Given the description of an element on the screen output the (x, y) to click on. 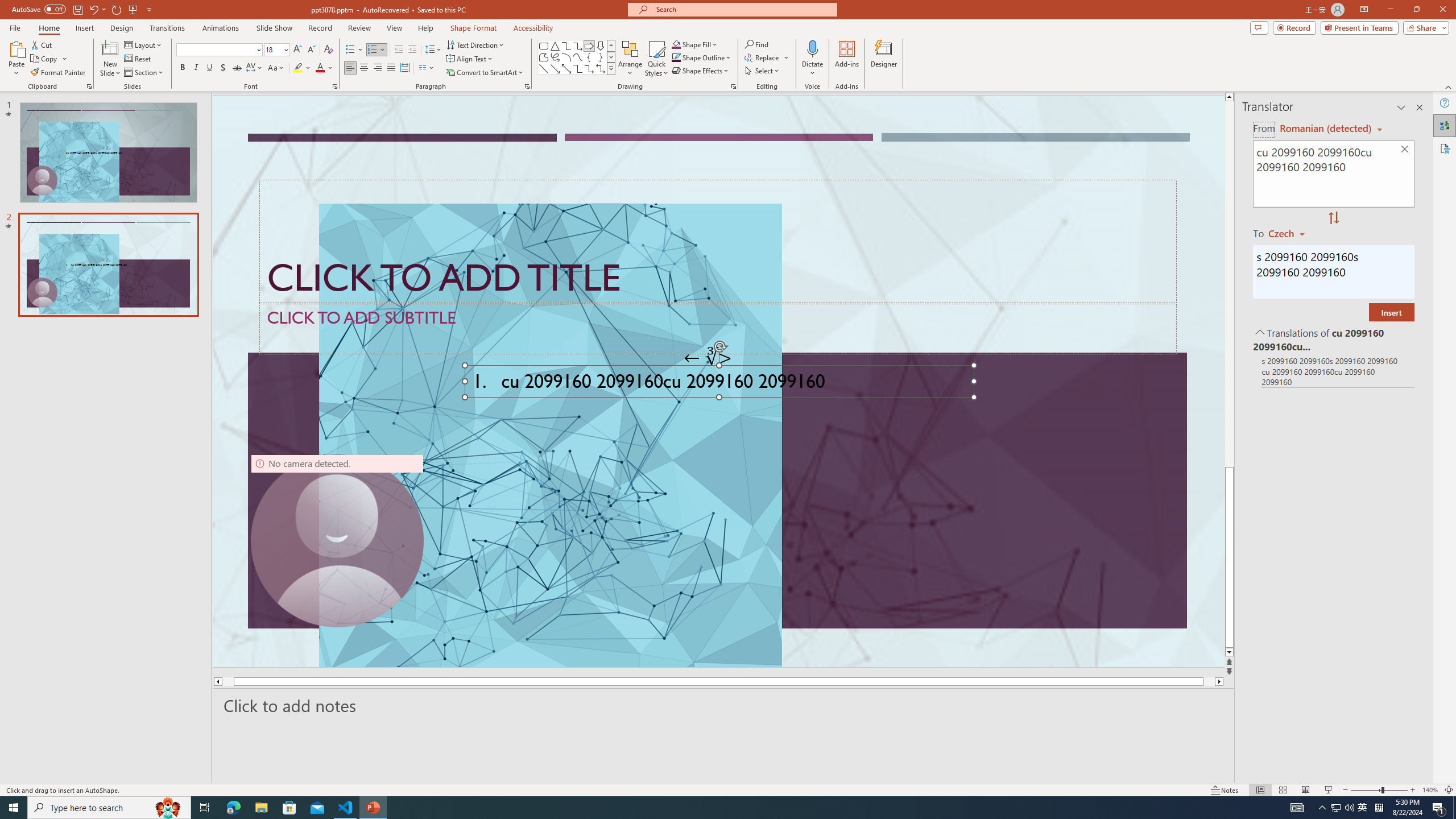
Clear text (1404, 149)
